Given the description of an element on the screen output the (x, y) to click on. 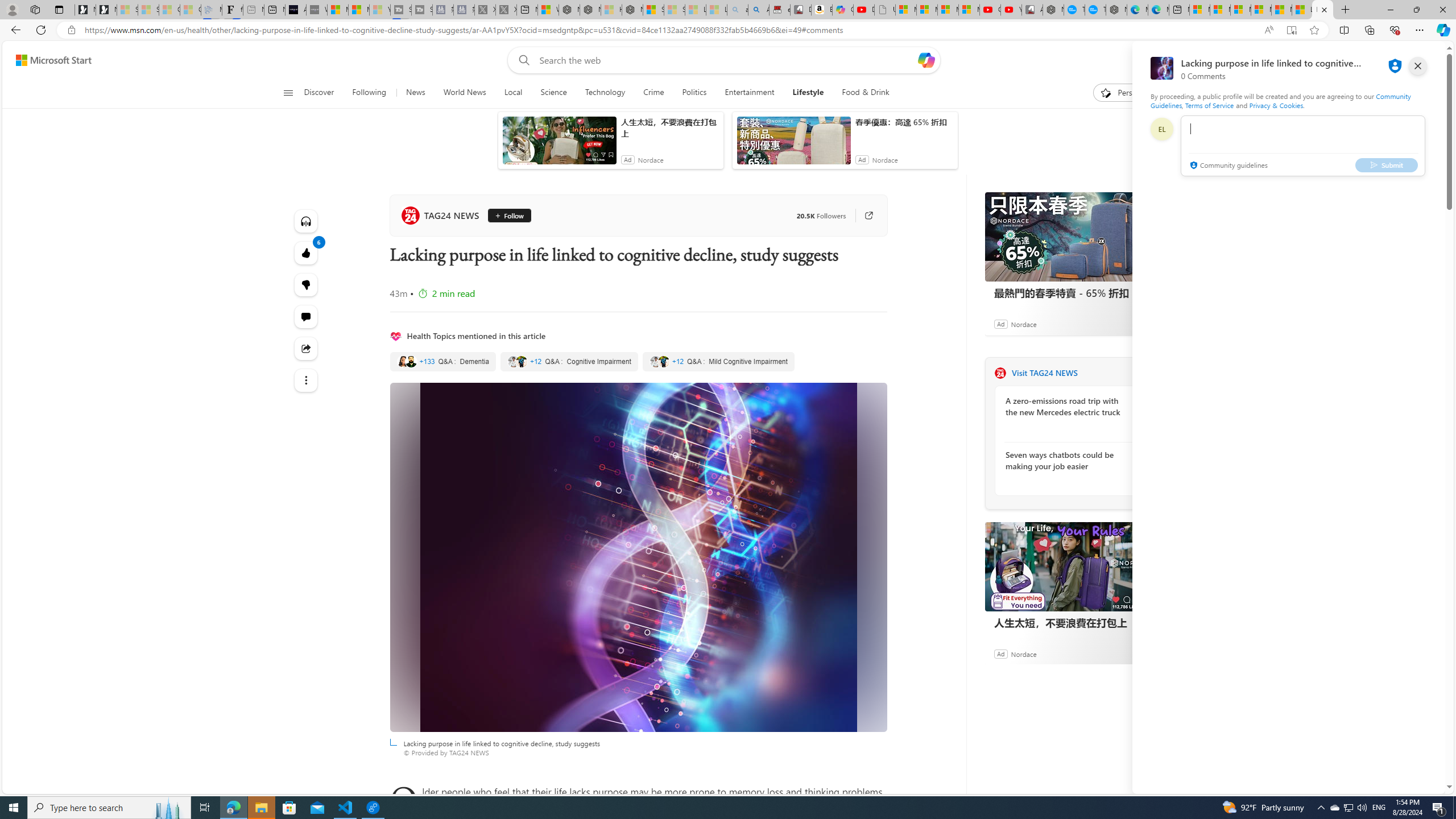
amazon - Search - Sleeping (737, 9)
Skip to footer (46, 59)
Share this story (305, 348)
TAG24 NEWS (441, 215)
Nordace - My Account (1053, 9)
Politics (694, 92)
